Given the description of an element on the screen output the (x, y) to click on. 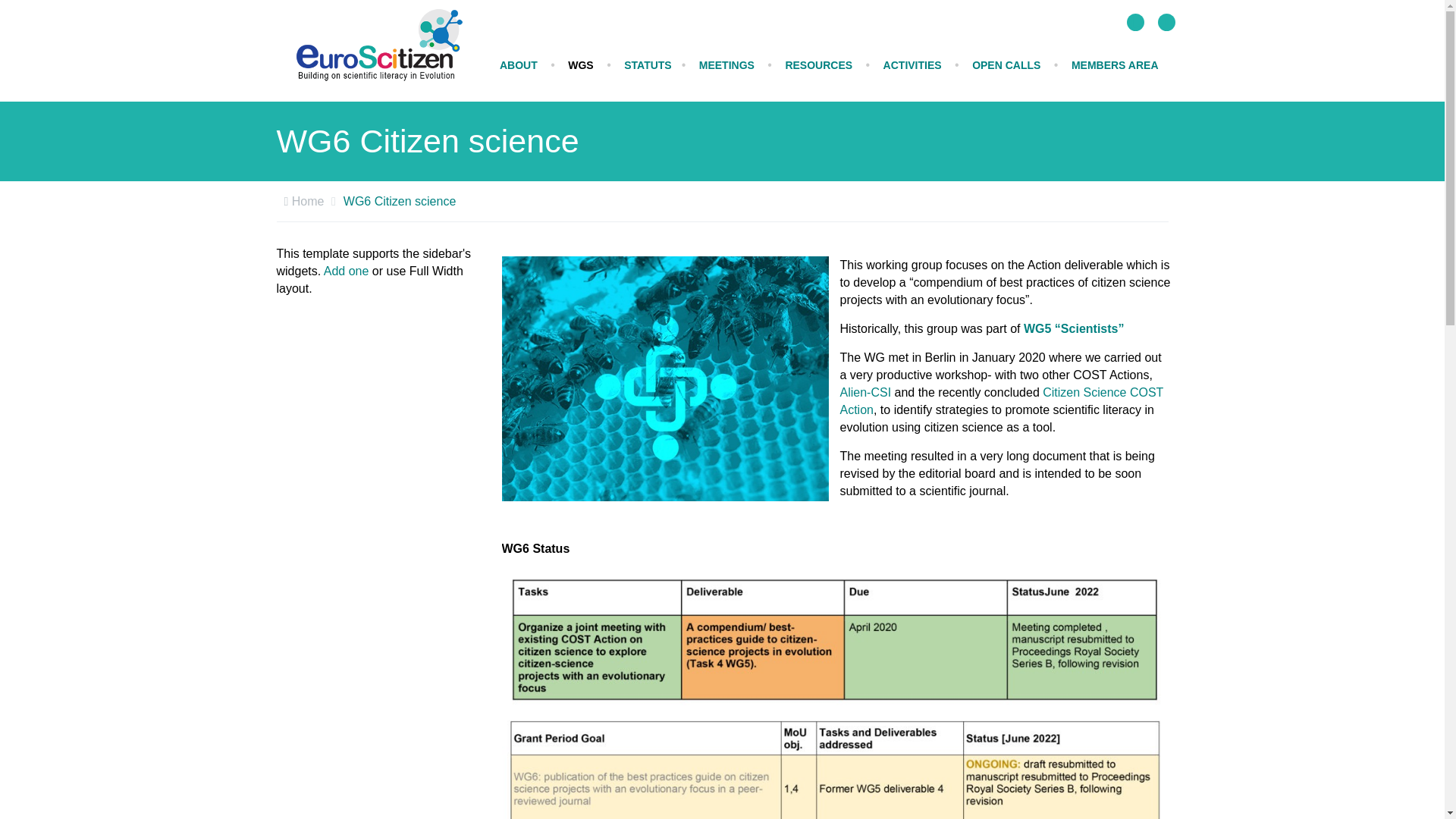
STATUTS (647, 65)
RESOURCES (817, 65)
Twitter (1135, 22)
ABOUT (518, 65)
L (1135, 22)
MEETINGS (726, 65)
